Given the description of an element on the screen output the (x, y) to click on. 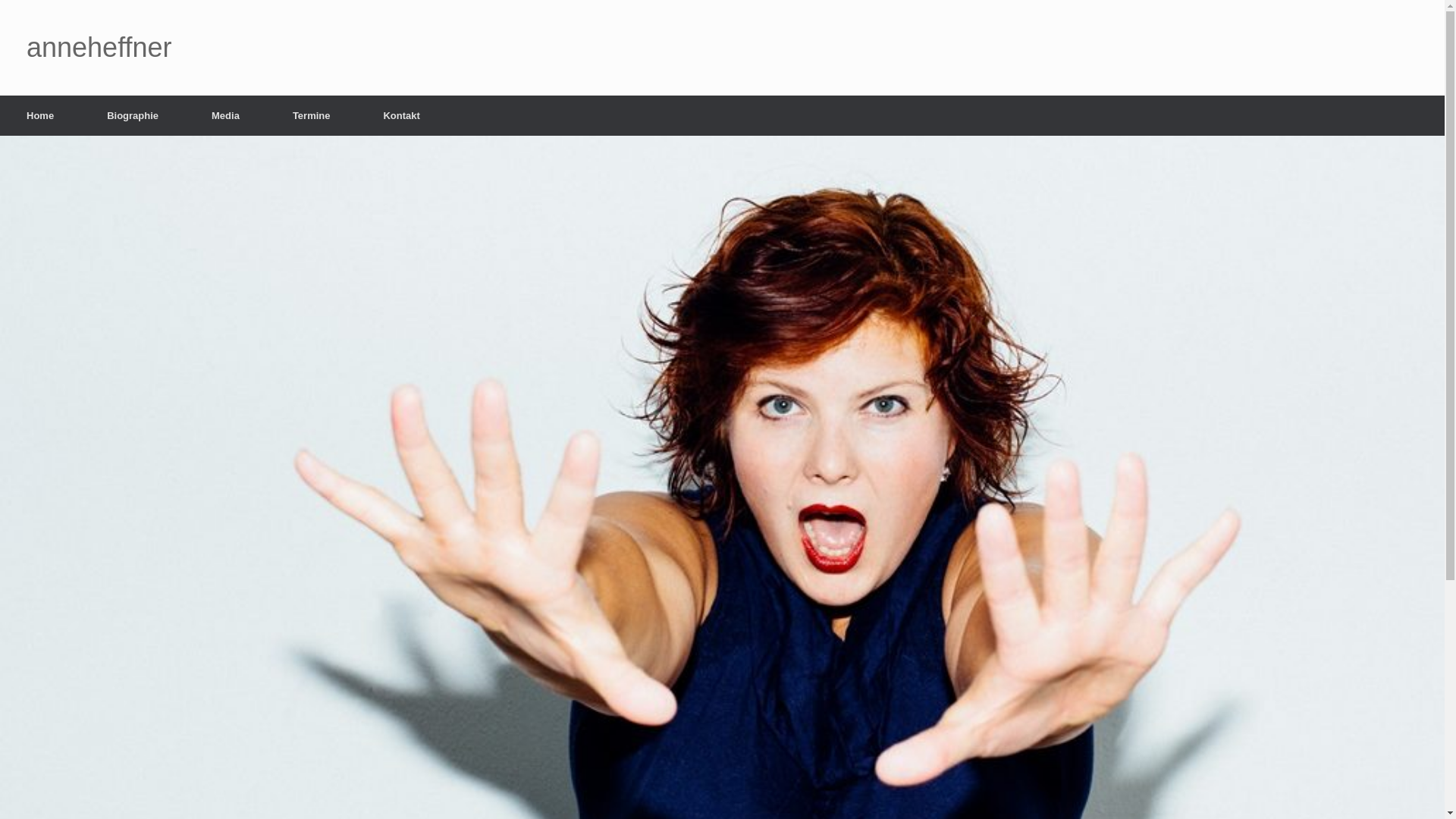
Kontakt Element type: text (400, 115)
Home Element type: text (40, 115)
Termine Element type: text (311, 115)
anneheffner Element type: text (99, 47)
Biographie Element type: text (132, 115)
Media Element type: text (225, 115)
